Given the description of an element on the screen output the (x, y) to click on. 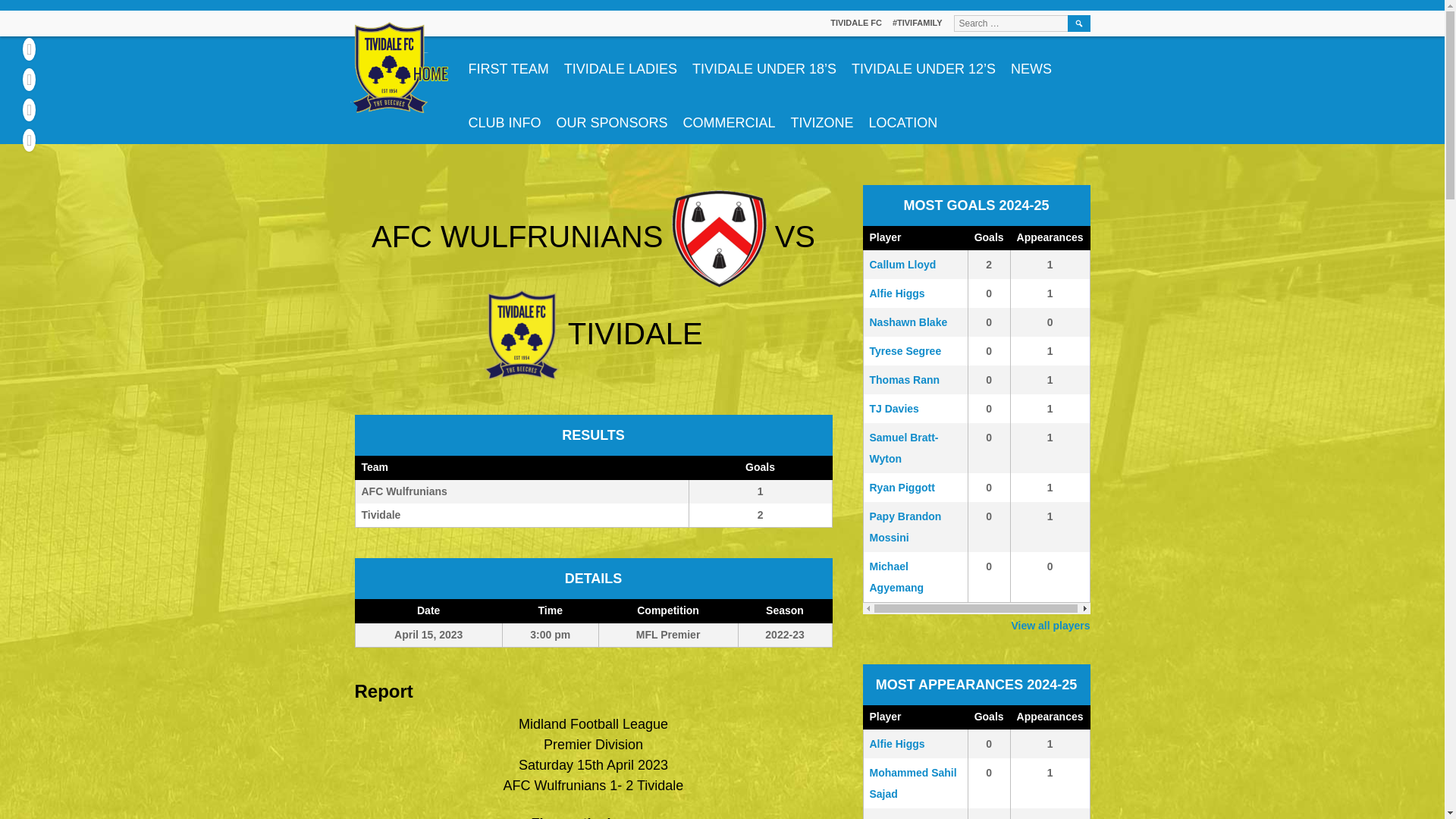
TIVIZONE (822, 117)
Search (1078, 23)
COMMERCIAL (729, 117)
FIRST TEAM (508, 63)
TIVIDALE LADIES (593, 491)
TIVIDALE FC (620, 63)
CLUB INFO (855, 22)
